Given the description of an element on the screen output the (x, y) to click on. 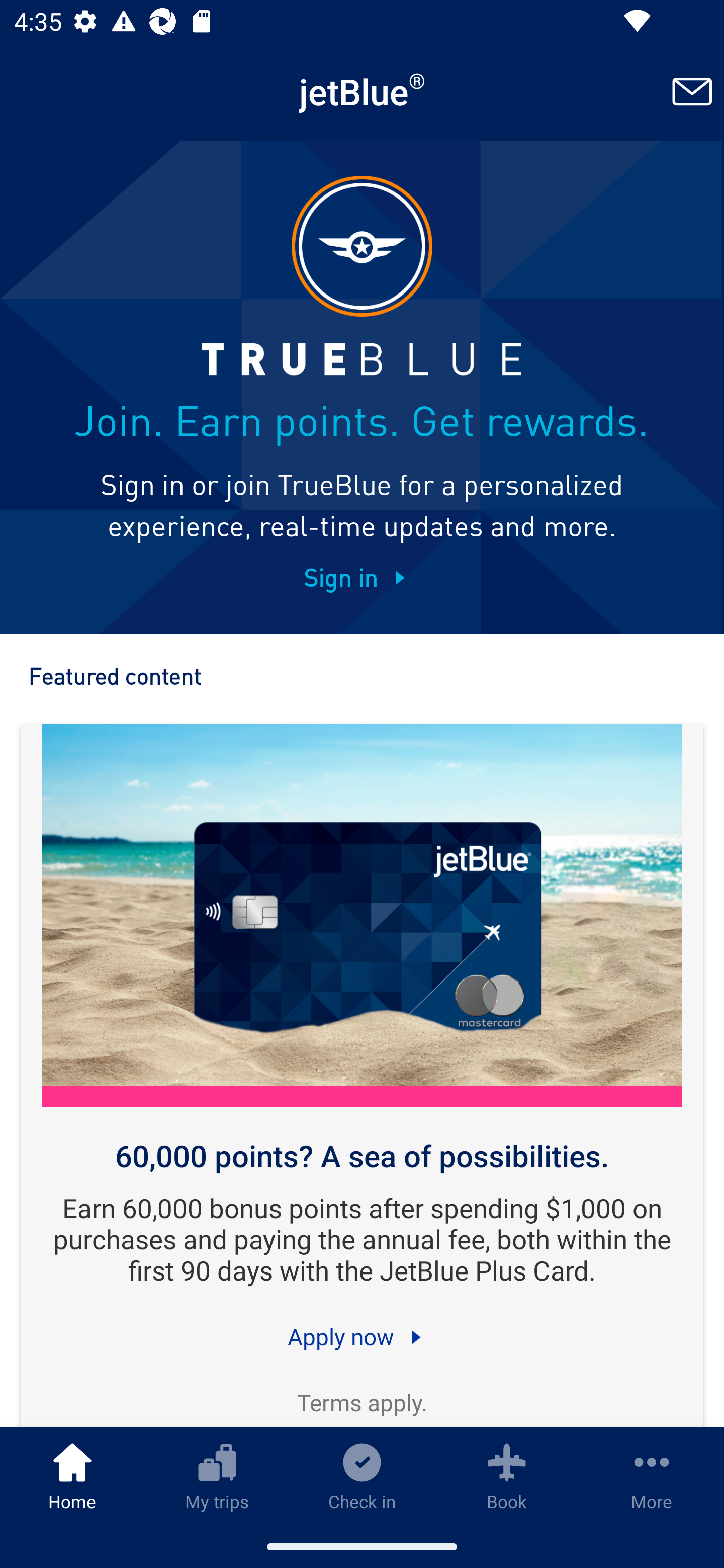
Apply now (361, 1336)
My trips (216, 1475)
Check in (361, 1475)
Book (506, 1475)
More (651, 1475)
